Given the description of an element on the screen output the (x, y) to click on. 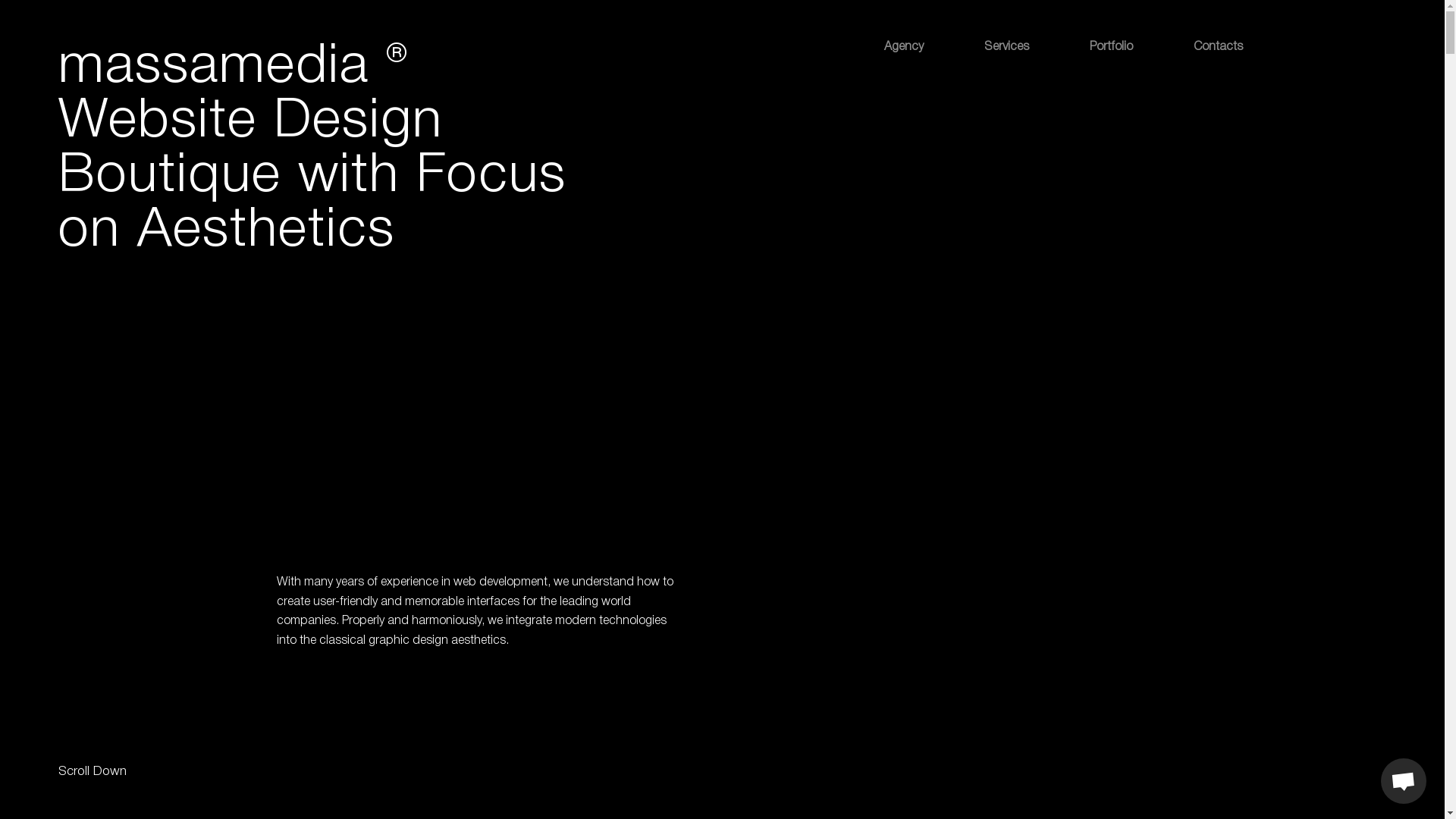
Services Element type: text (1006, 47)
Agency Element type: text (903, 47)
Portfolio Element type: text (1111, 47)
Contacts Element type: text (1218, 47)
